Given the description of an element on the screen output the (x, y) to click on. 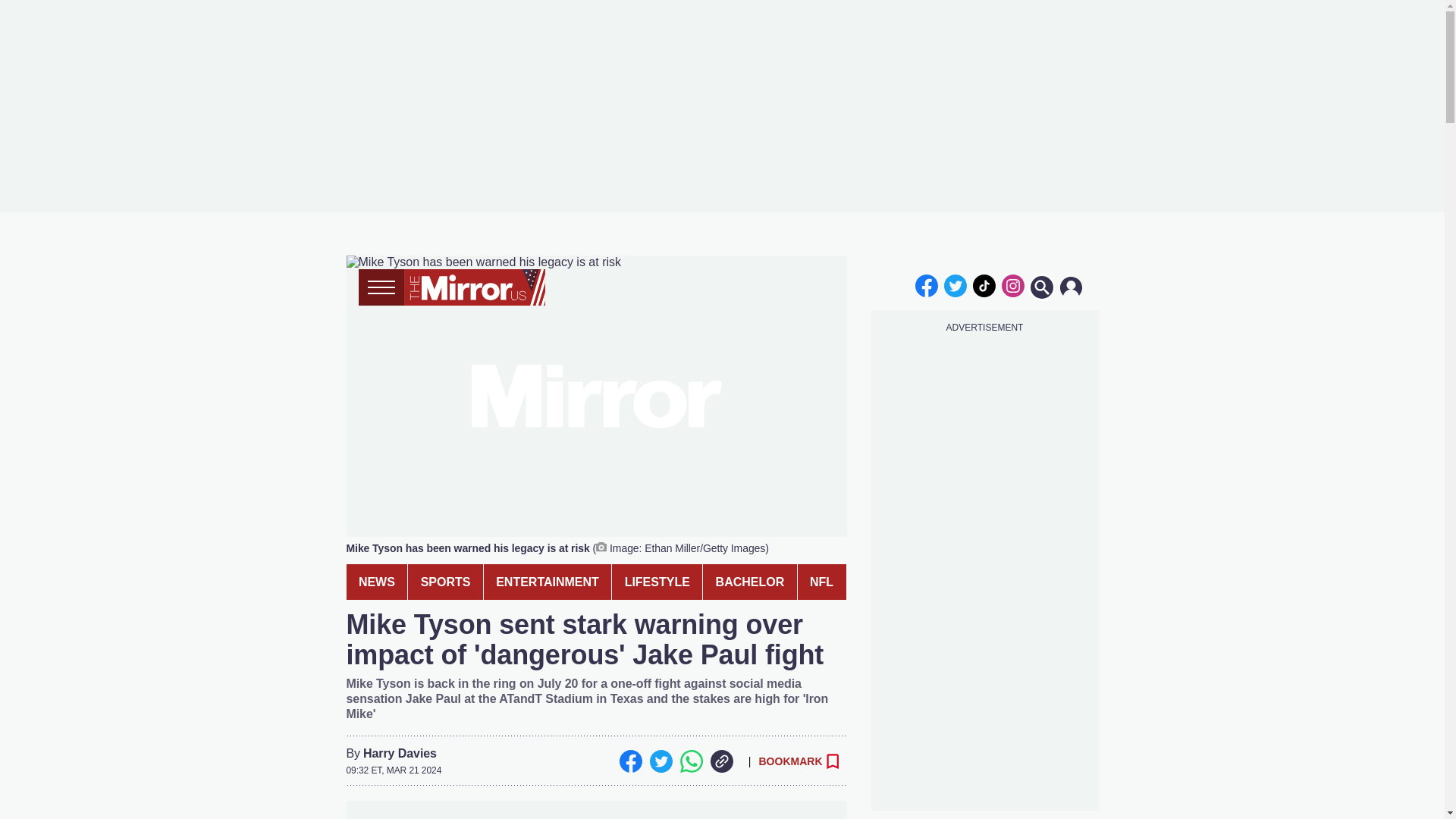
tiktok (984, 285)
NFL (821, 581)
twitter (955, 285)
ENTERTAINMENT (547, 581)
Whatsapp (690, 761)
BACHELOR (749, 581)
NEWS (376, 581)
LIFESTYLE (656, 581)
Facebook (630, 761)
instagram (1012, 285)
